Given the description of an element on the screen output the (x, y) to click on. 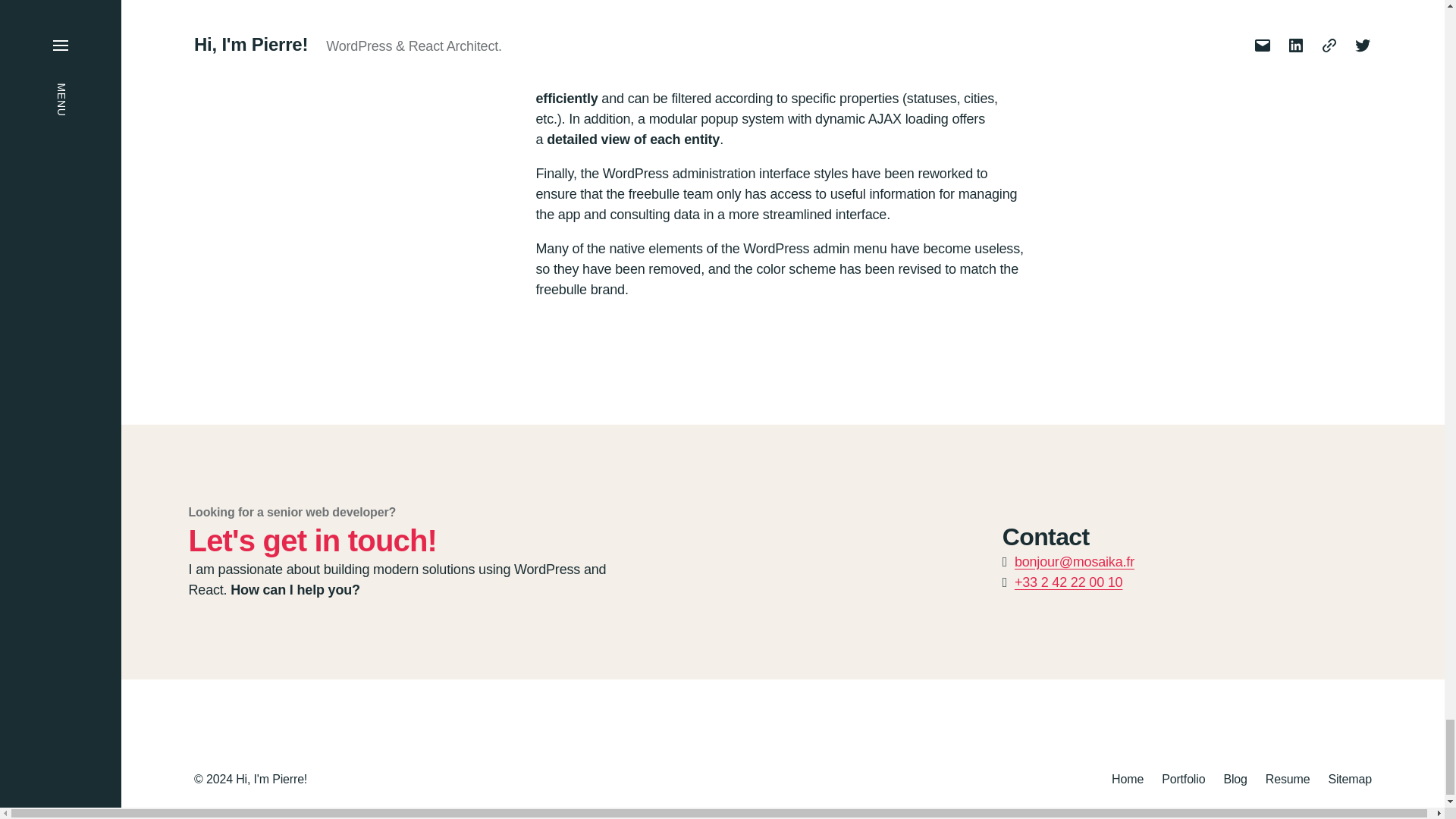
Eloquent models (784, 77)
Home (1127, 779)
Blog (1234, 779)
Portfolio (1183, 779)
Resume (1287, 779)
Hi, I'm Pierre! (271, 779)
